Given the description of an element on the screen output the (x, y) to click on. 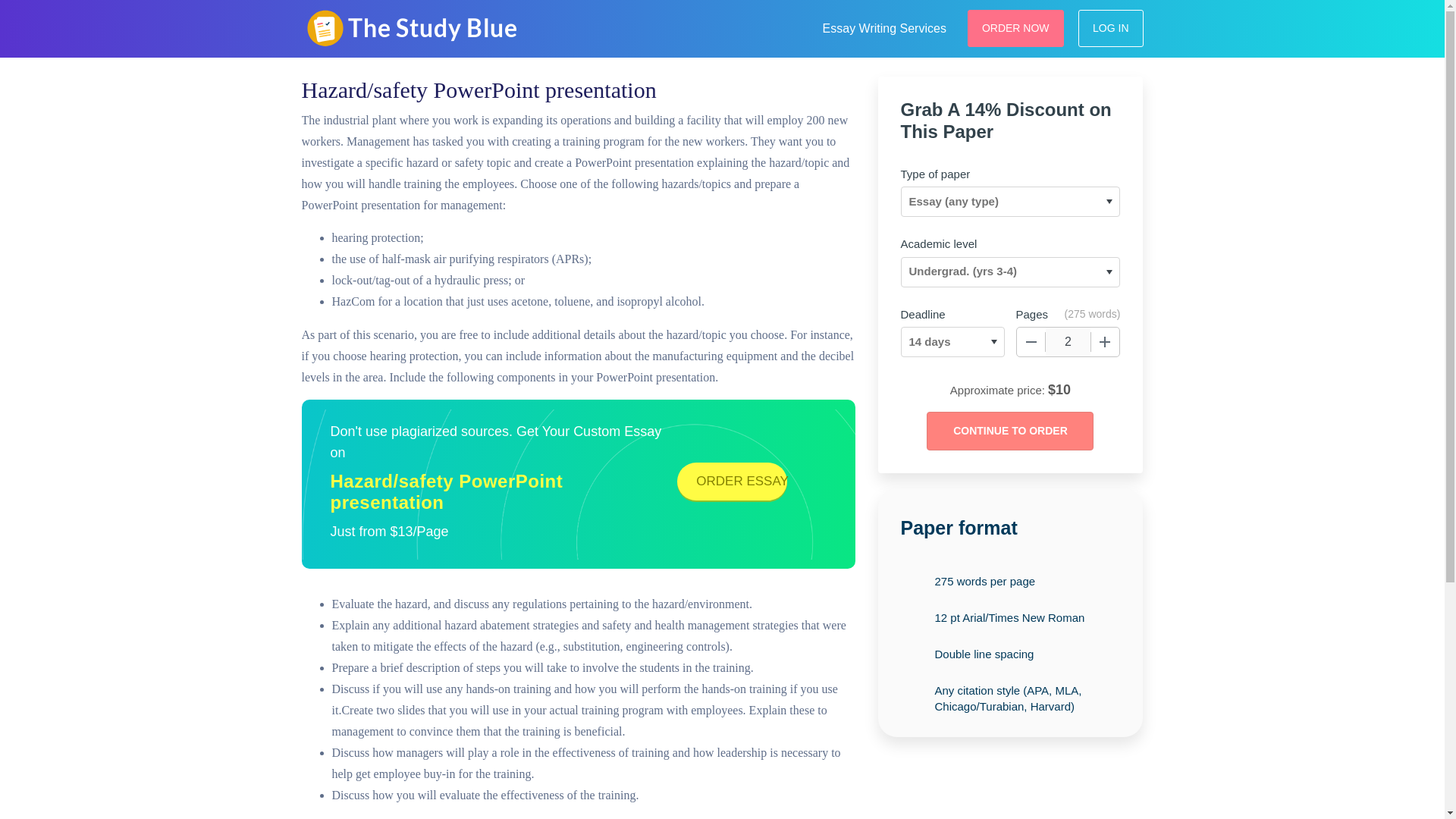
2 (1067, 341)
Increase (1104, 341)
Essay Writing Services (884, 26)
Decrease (1030, 341)
Essay Writing Services (884, 26)
Continue to order (1009, 430)
ORDER NOW (1016, 27)
Continue to order (1009, 430)
LOG IN (1110, 27)
ORDER ESSAY (732, 481)
